Given the description of an element on the screen output the (x, y) to click on. 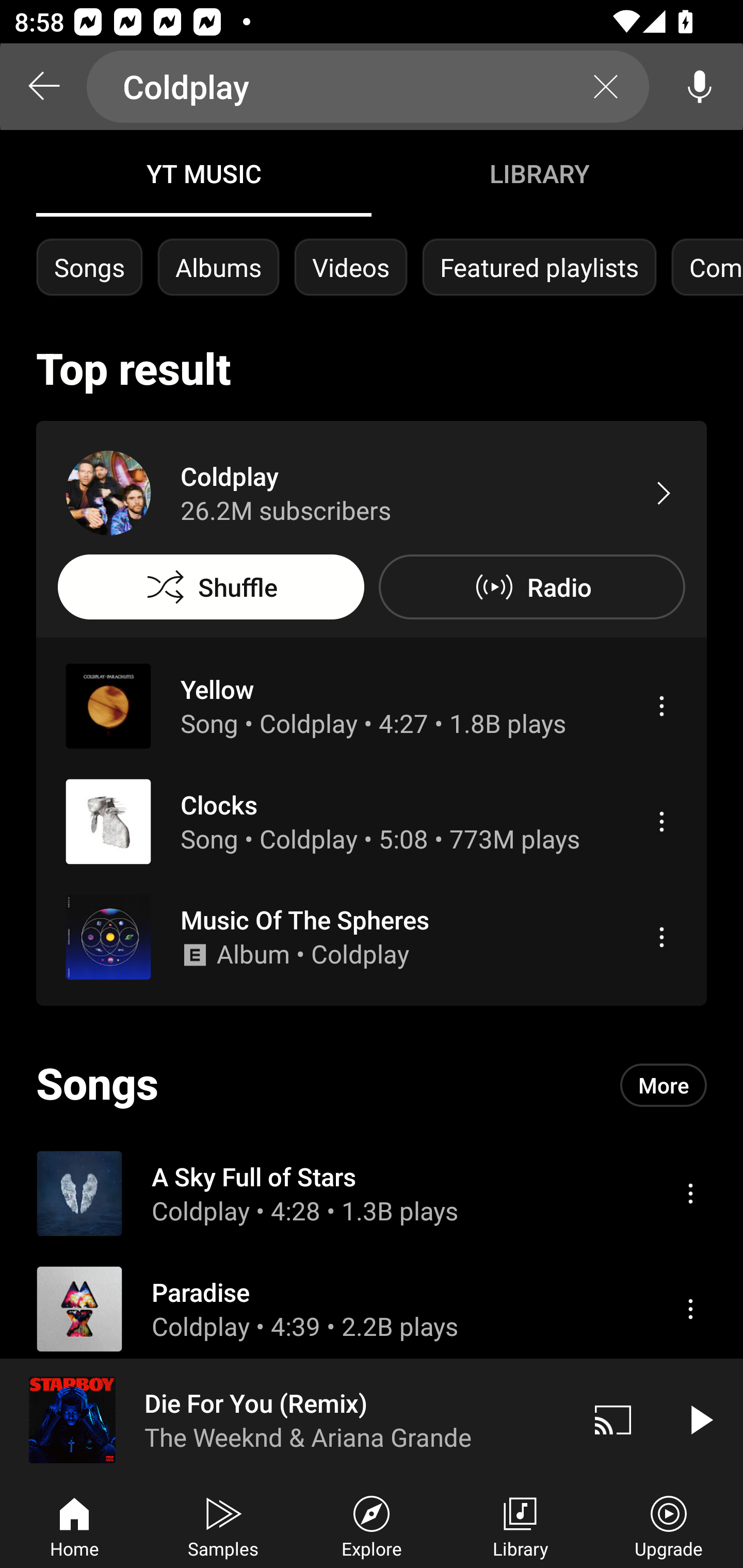
Search back (43, 86)
Coldplay (367, 86)
Clear search (605, 86)
Voice search (699, 86)
Library LIBRARY (538, 173)
Shuffle (210, 587)
Radio (531, 587)
Menu (661, 705)
Menu (661, 821)
Menu (661, 937)
Songs More More (371, 1084)
More (663, 1085)
Menu (690, 1193)
Menu (690, 1309)
Die For You (Remix) The Weeknd & Ariana Grande (284, 1419)
Cast. Disconnected (612, 1419)
Play video (699, 1419)
Home (74, 1524)
Samples (222, 1524)
Explore (371, 1524)
Library (519, 1524)
Upgrade (668, 1524)
